Given the description of an element on the screen output the (x, y) to click on. 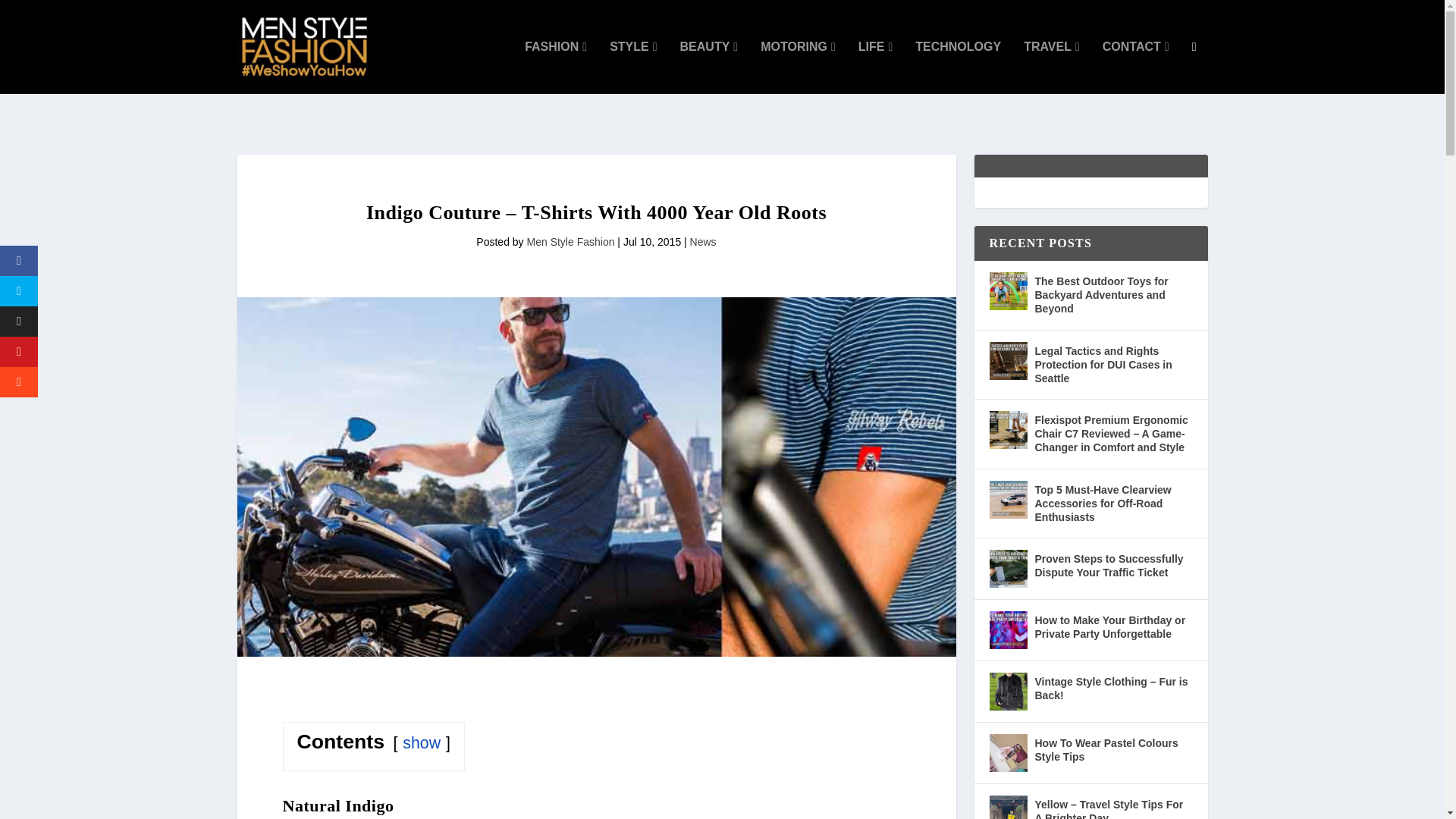
The Best Outdoor Toys for Backyard Adventures and Beyond (1007, 290)
Proven Steps to Successfully Dispute Your Traffic Ticket (1007, 568)
BEAUTY (708, 67)
FASHION (555, 67)
How to Make Your Birthday or Private Party Unforgettable (1007, 629)
MOTORING (797, 67)
Posts by Men Style Fashion (570, 241)
Legal Tactics and Rights Protection for DUI Cases in Seattle (1007, 361)
